Given the description of an element on the screen output the (x, y) to click on. 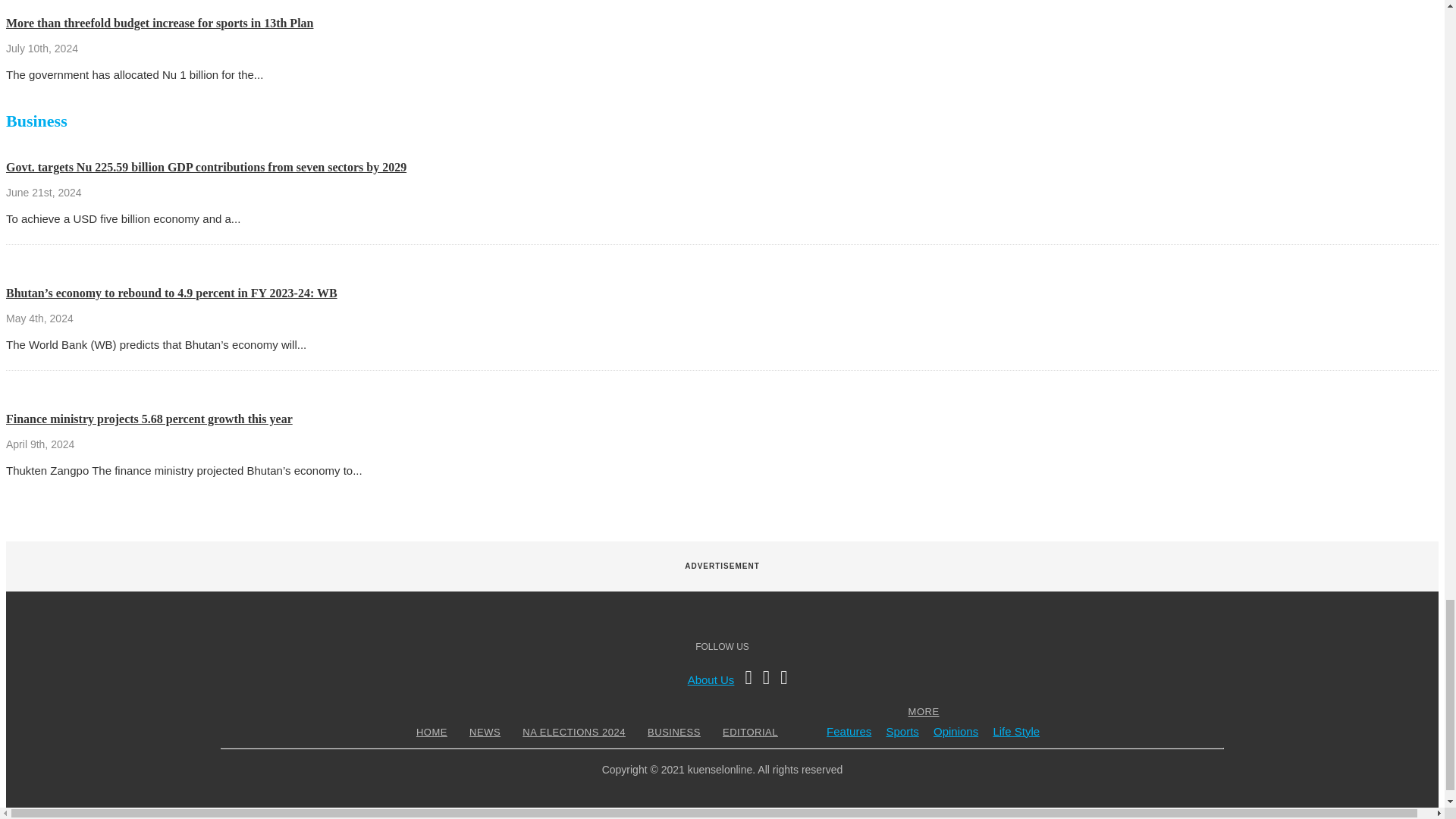
NA ELECTIONS 2024 (573, 731)
HOME (431, 731)
MORE (923, 711)
Finance ministry projects 5.68 percent growth this year (148, 418)
BUSINESS (673, 731)
About Us (711, 679)
NEWS (484, 731)
More than threefold budget increase for sports in 13th Plan (159, 22)
EDITORIAL (750, 731)
